Given the description of an element on the screen output the (x, y) to click on. 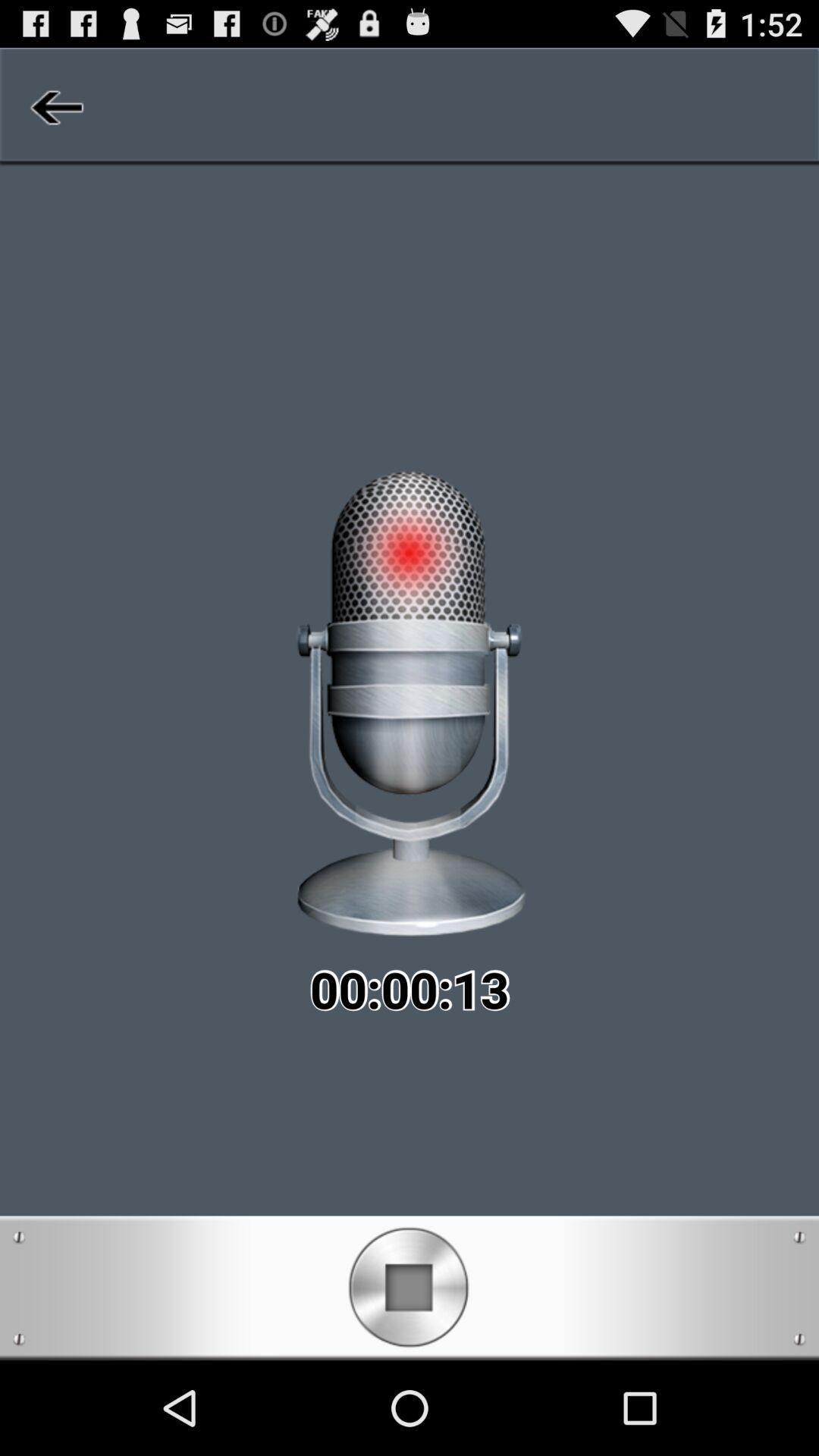
turn off icon below the 00:00:13 (408, 1287)
